Given the description of an element on the screen output the (x, y) to click on. 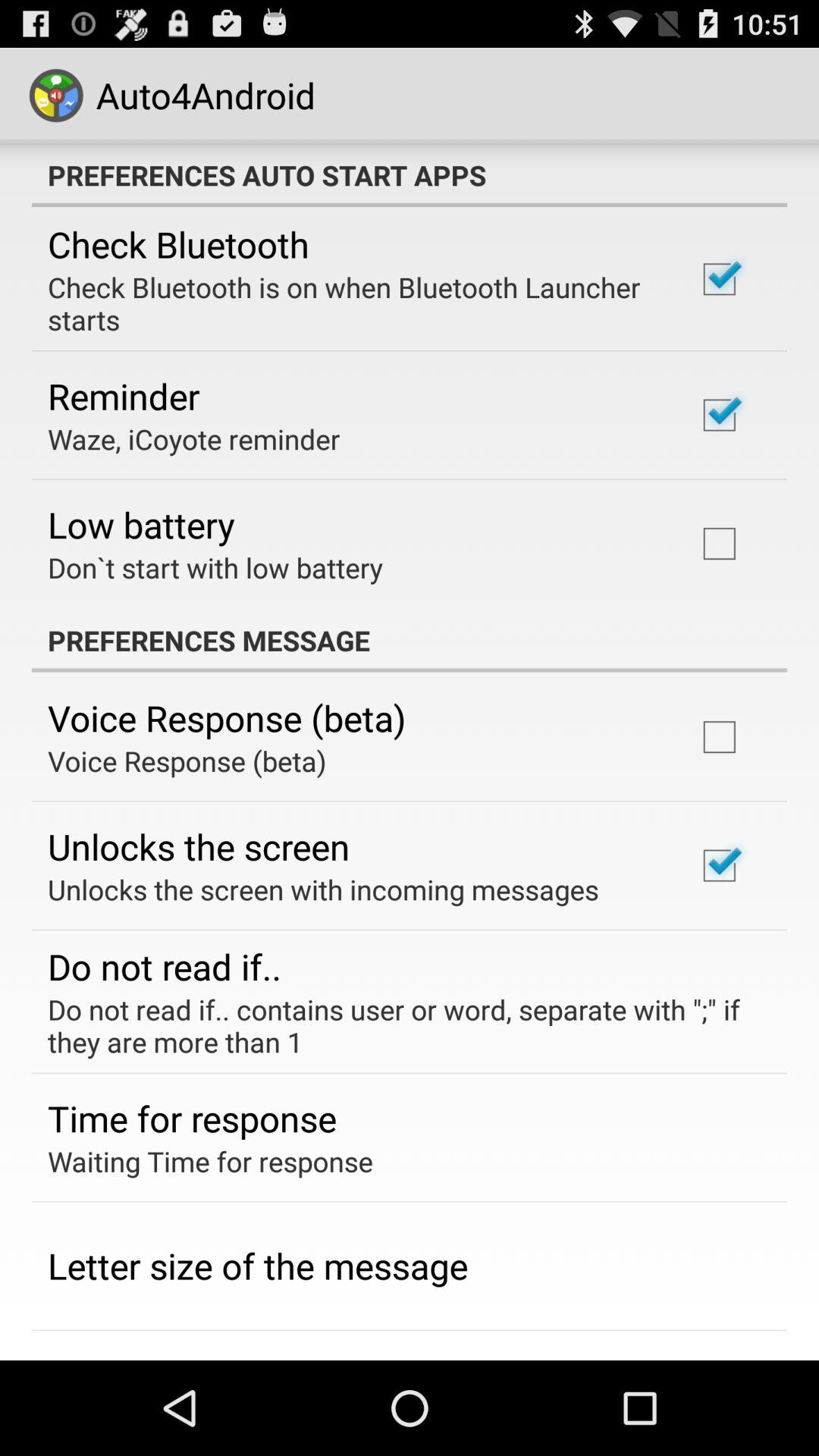
select app below the reminder (193, 438)
